Given the description of an element on the screen output the (x, y) to click on. 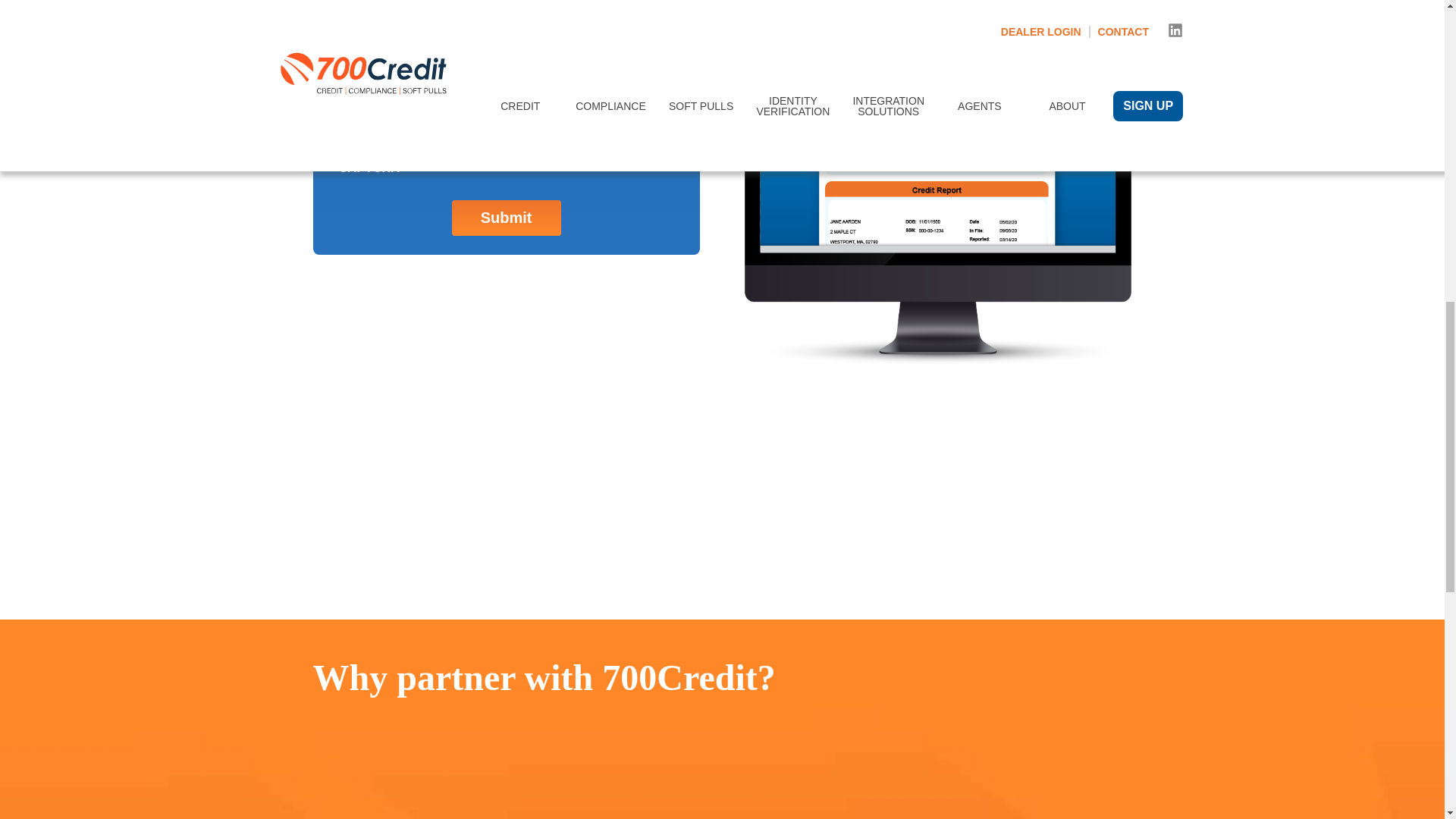
Submit (505, 217)
QuickScore Credit Report - Screen (937, 200)
